Given the description of an element on the screen output the (x, y) to click on. 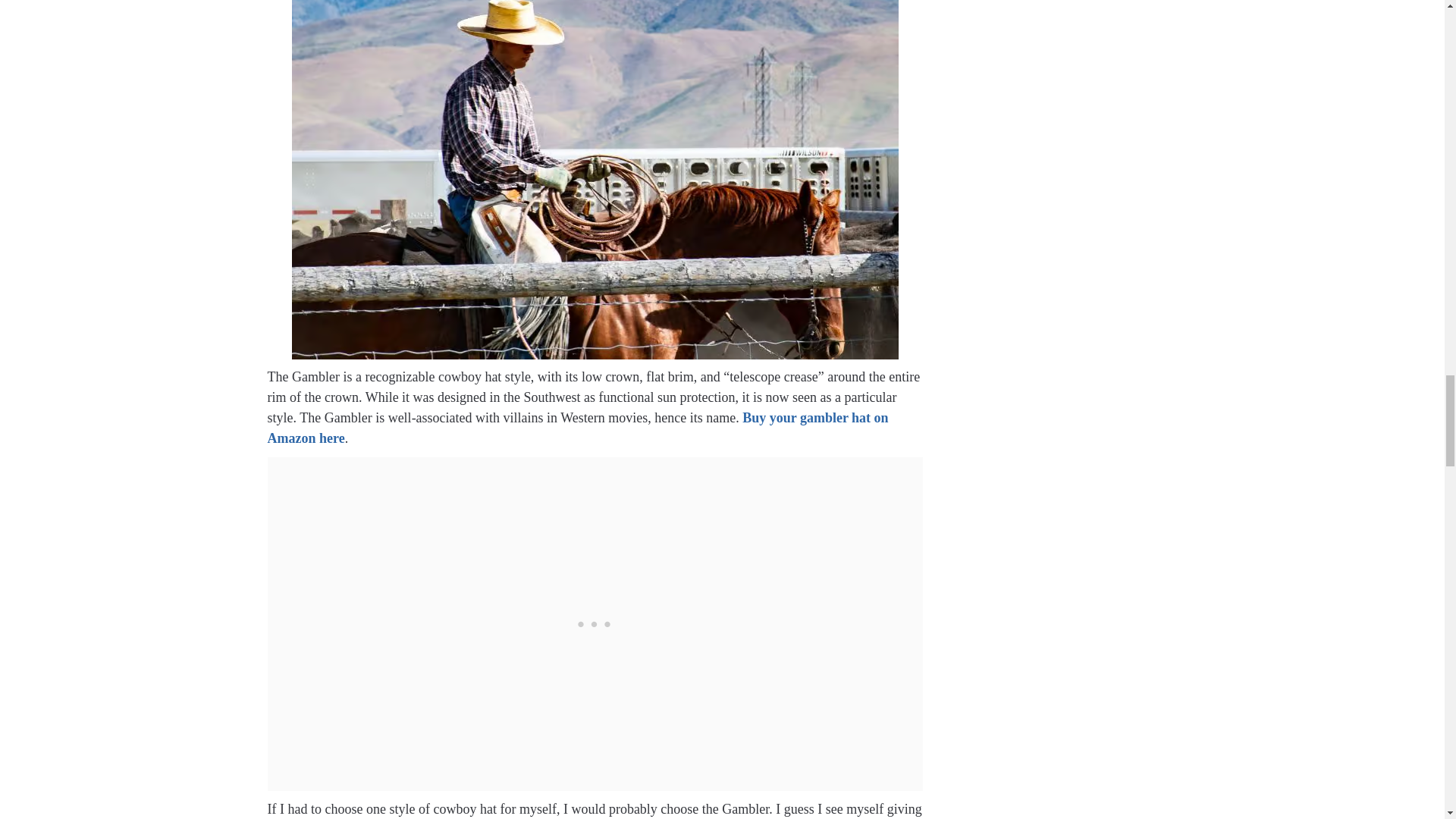
Buy your gambler hat on Amazon here (577, 427)
